Given the description of an element on the screen output the (x, y) to click on. 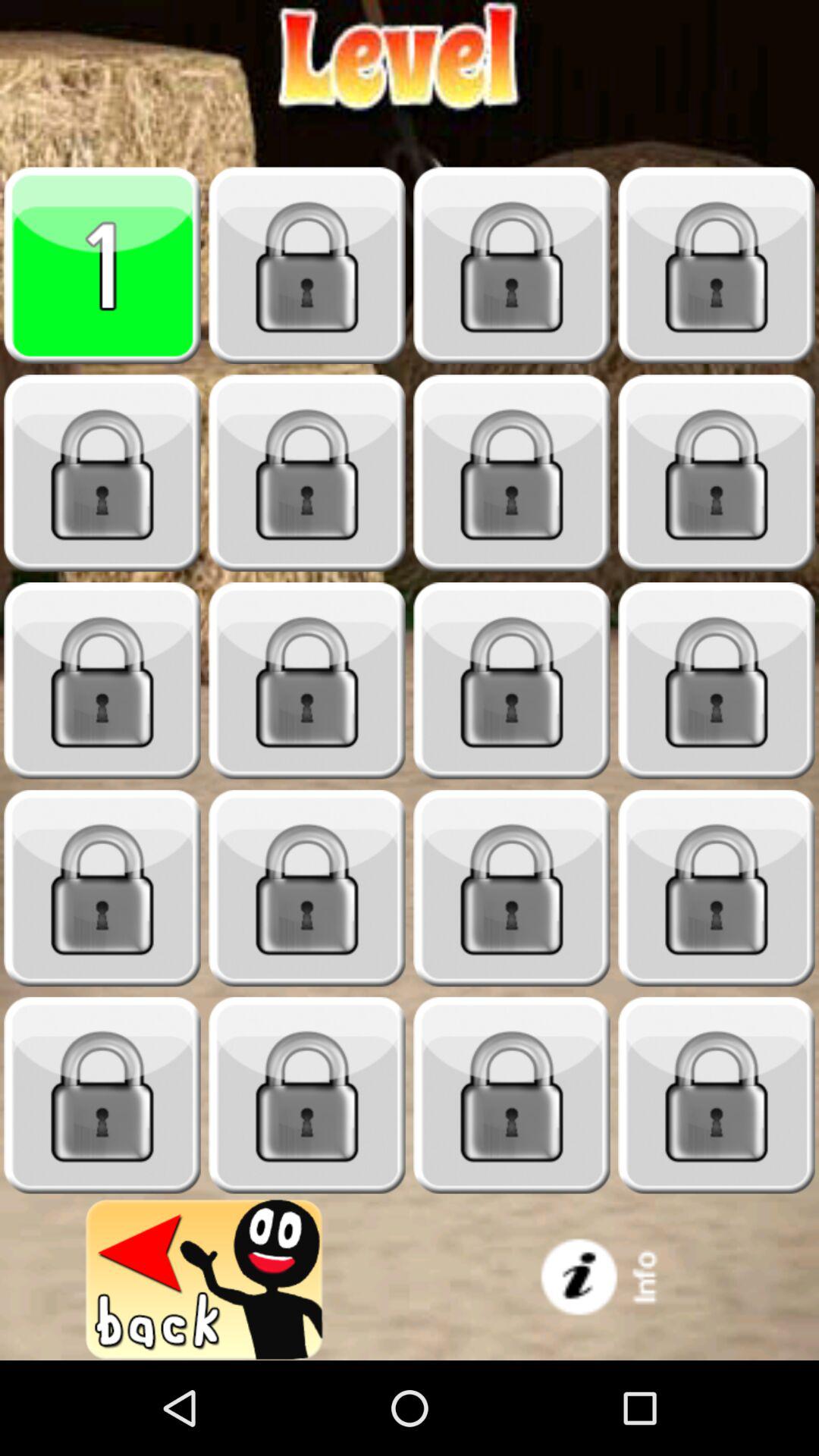
game page (102, 265)
